Given the description of an element on the screen output the (x, y) to click on. 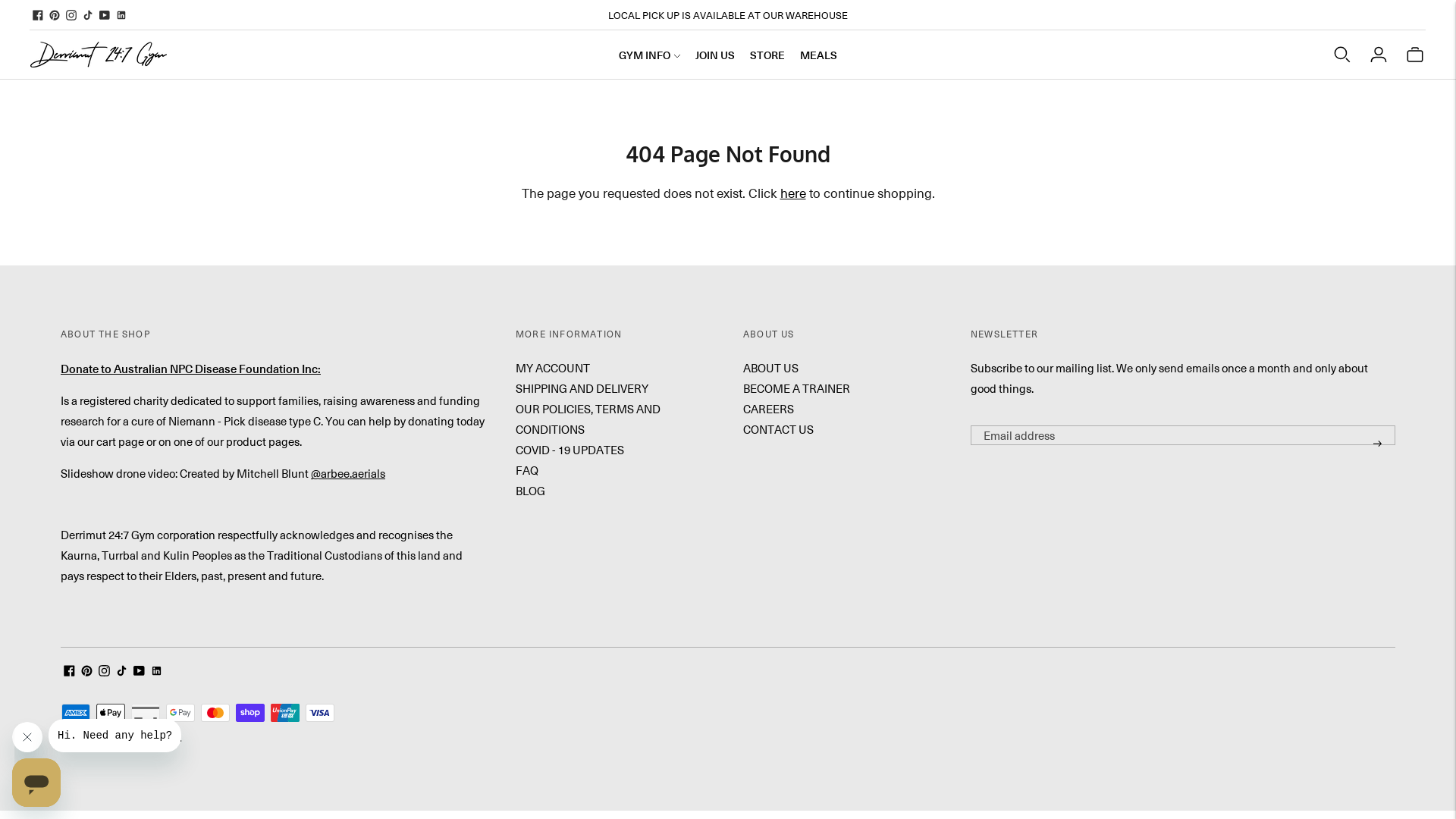
MY ACCOUNT Element type: text (552, 367)
Derrimut 24:7 Gym on TikTok Element type: hover (87, 14)
@arbee.aerials Element type: text (347, 472)
Derrimut 24:7 Gym on LinkedIn, Element type: hover (156, 671)
JOIN US Element type: text (714, 54)
COVID - 19 UPDATES Element type: text (569, 449)
OUR POLICIES, TERMS AND CONDITIONS Element type: text (587, 418)
BLOG Element type: text (530, 490)
Derrimut 24:7 Gym on LinkedIn, Element type: hover (121, 14)
Close message Element type: hover (27, 736)
GYM INFO Element type: text (649, 54)
BECOME A TRAINER Element type: text (796, 387)
ABOUT US Element type: text (770, 367)
Derrimut 24:7 Gym on TikTok Element type: hover (121, 671)
FAQ Element type: text (526, 469)
Derrimut 24:7 Gym on Instagram Element type: hover (103, 671)
Button to launch messaging window Element type: hover (36, 782)
Derrimut 24:7 Gym on Facebook Element type: hover (69, 671)
Derrimut 24:7 Gym on Facebook Element type: hover (37, 14)
Subscribe Element type: text (1377, 443)
CAREERS Element type: text (768, 408)
STORE Element type: text (766, 54)
Message from company Element type: hover (114, 735)
CONTACT US Element type: text (778, 428)
here Element type: text (792, 193)
Derrimut 24:7 Gym on Pinterest Element type: hover (54, 14)
SHIPPING AND DELIVERY Element type: text (581, 387)
MEALS Element type: text (818, 54)
Derrimut 24:7 Gym on Pinterest Element type: hover (86, 671)
Derrimut 24:7 Gym on YouTube Element type: hover (138, 671)
Derrimut 24:7 Gym on YouTube Element type: hover (104, 14)
Derrimut 24:7 Gym on Instagram Element type: hover (70, 14)
